Given the description of an element on the screen output the (x, y) to click on. 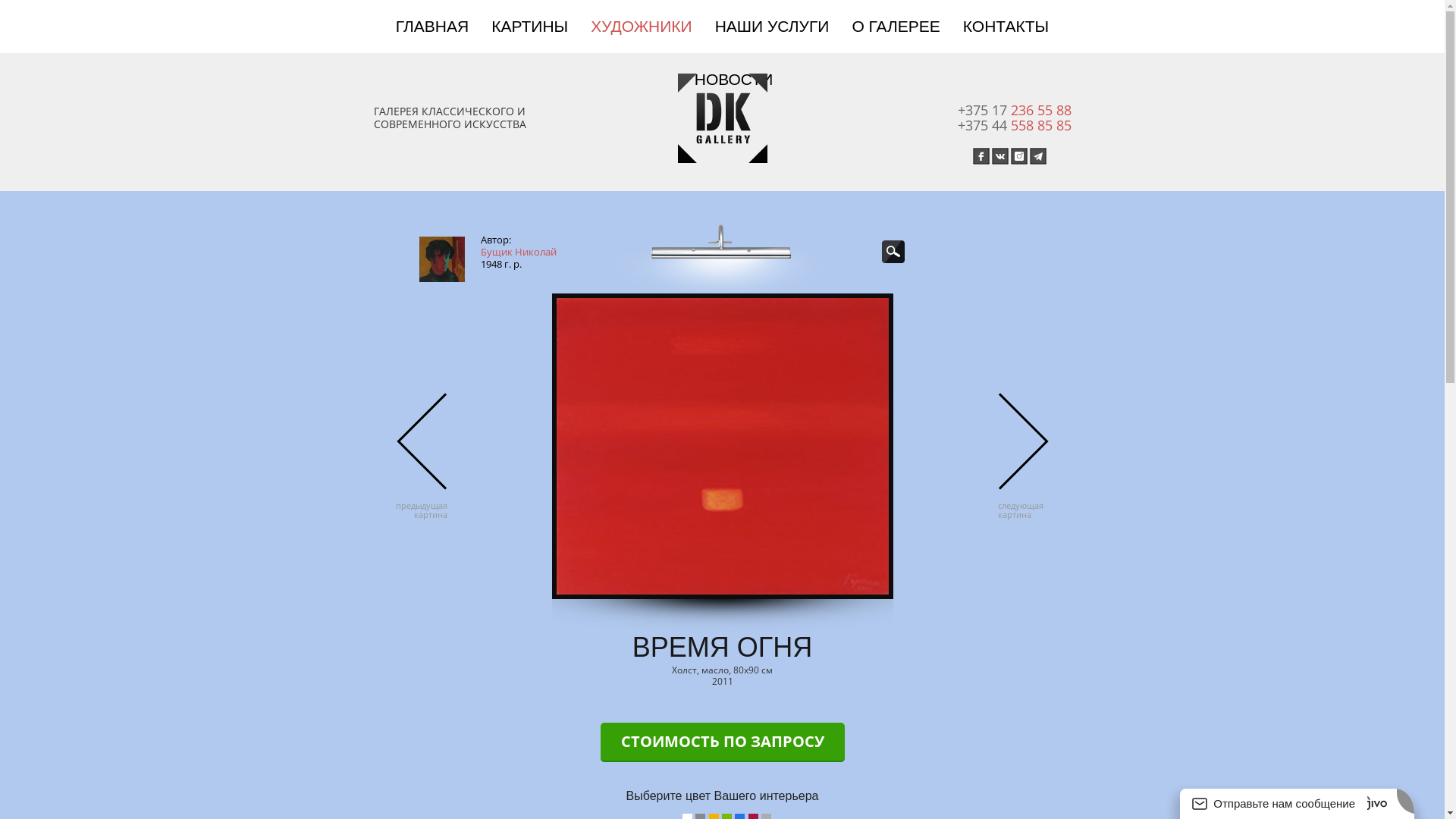
+375 17 236 55 88 Element type: text (1013, 109)
+375 44 558 85 85 Element type: text (1013, 125)
